Given the description of an element on the screen output the (x, y) to click on. 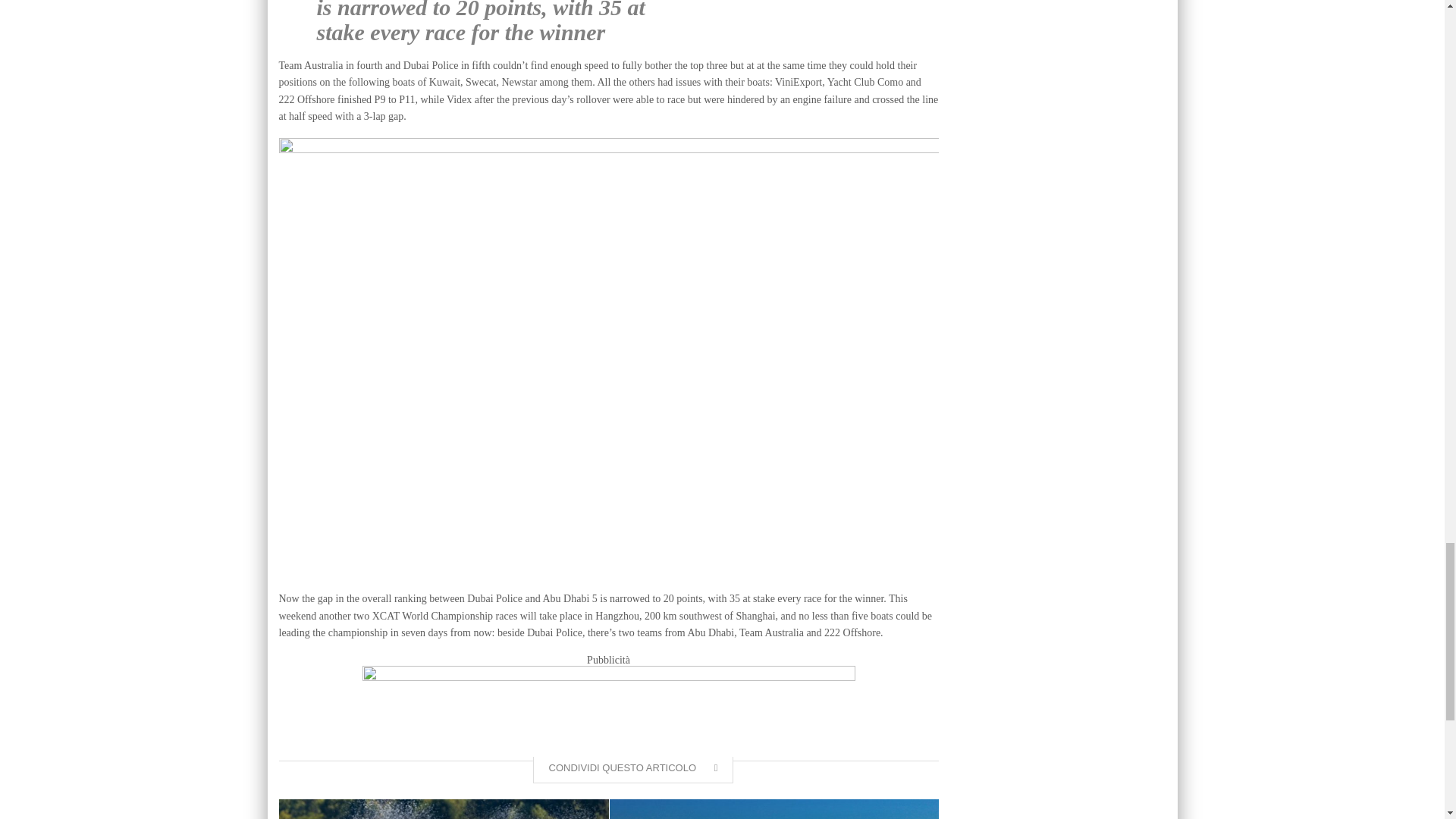
CONDIVIDI QUESTO ARTICOLO (632, 769)
